Given the description of an element on the screen output the (x, y) to click on. 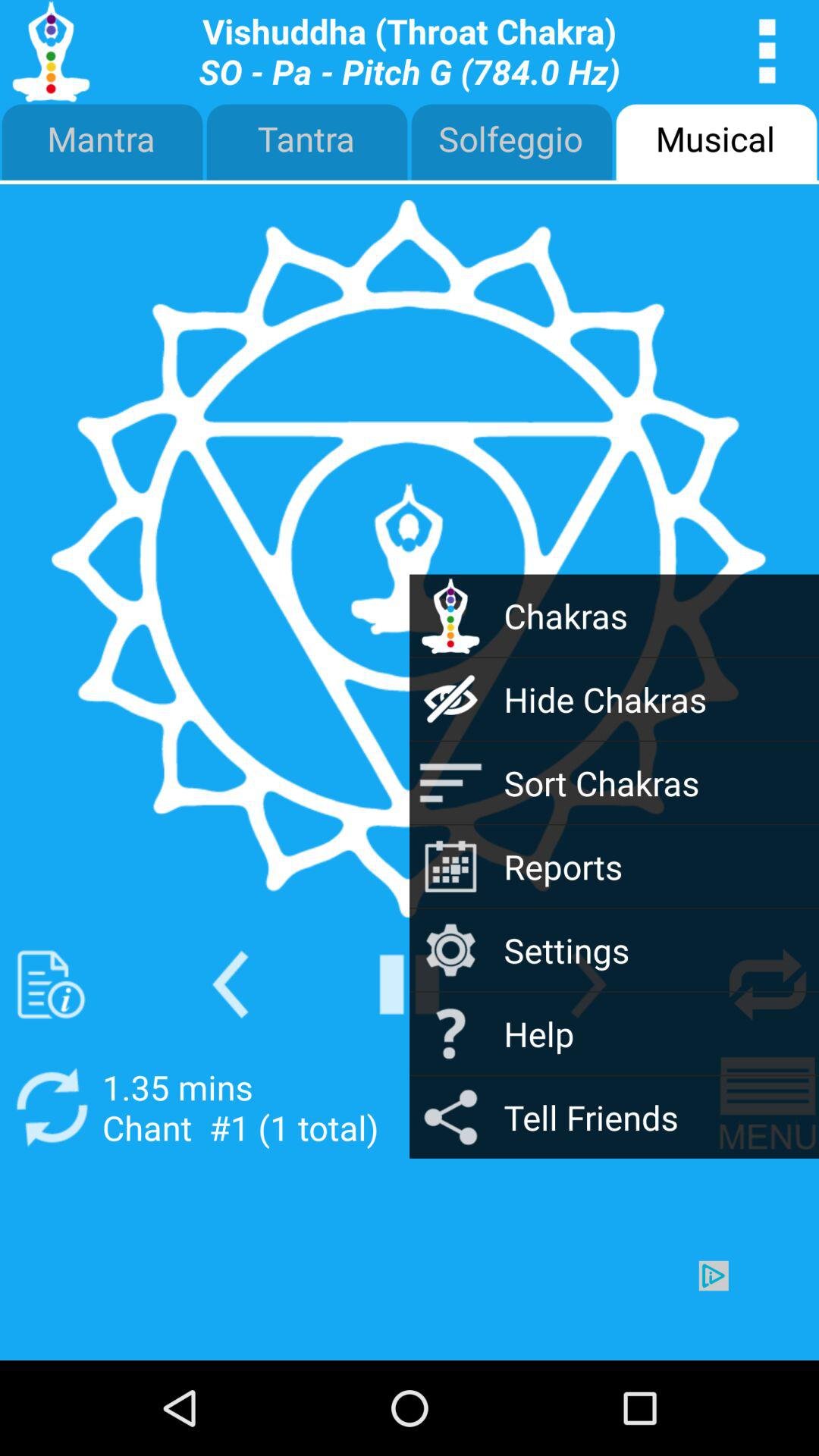
add notes (51, 984)
